Given the description of an element on the screen output the (x, y) to click on. 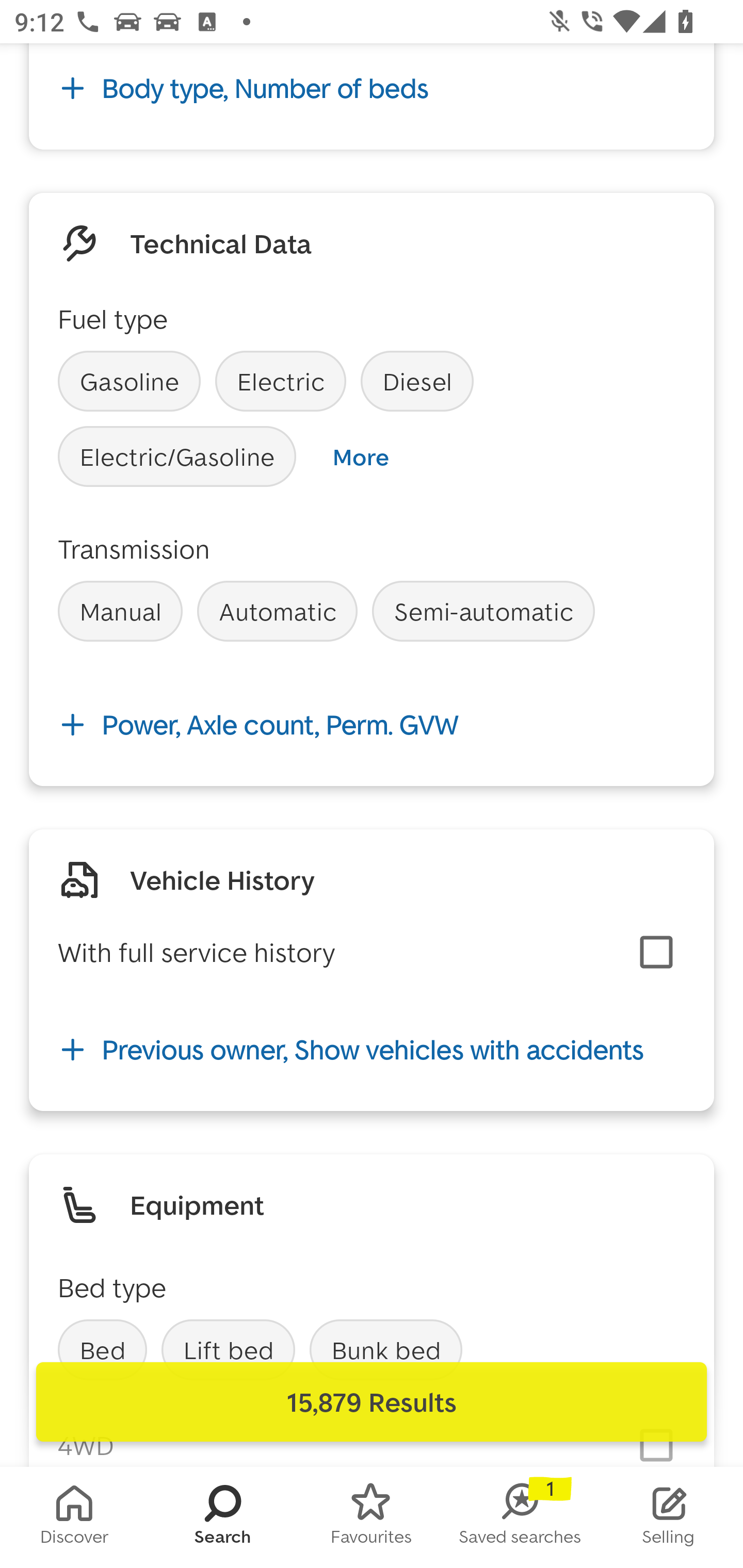
Body type, Number of beds (371, 88)
Technical Data (221, 242)
Fuel type (112, 318)
Gasoline (128, 380)
Electric (280, 380)
Diesel (417, 380)
Electric/Gasoline (176, 456)
More (360, 456)
Transmission (133, 548)
Manual (119, 610)
Automatic (276, 610)
Semi-automatic (483, 610)
Power, Axle count, Perm. GVW (371, 725)
Vehicle History (222, 879)
With full service history (196, 951)
Previous owner, Show vehicles with accidents (371, 1049)
Equipment (197, 1204)
Bed type (111, 1287)
Bed (102, 1348)
Lift bed (227, 1348)
Bunk bed (385, 1348)
15,879 Results (371, 1401)
HOMESCREEN Discover (74, 1517)
SEARCH Search (222, 1517)
FAVORITES Favourites (371, 1517)
SAVED_SEARCHES Saved searches 1 (519, 1517)
STOCK_LIST Selling (668, 1517)
